Given the description of an element on the screen output the (x, y) to click on. 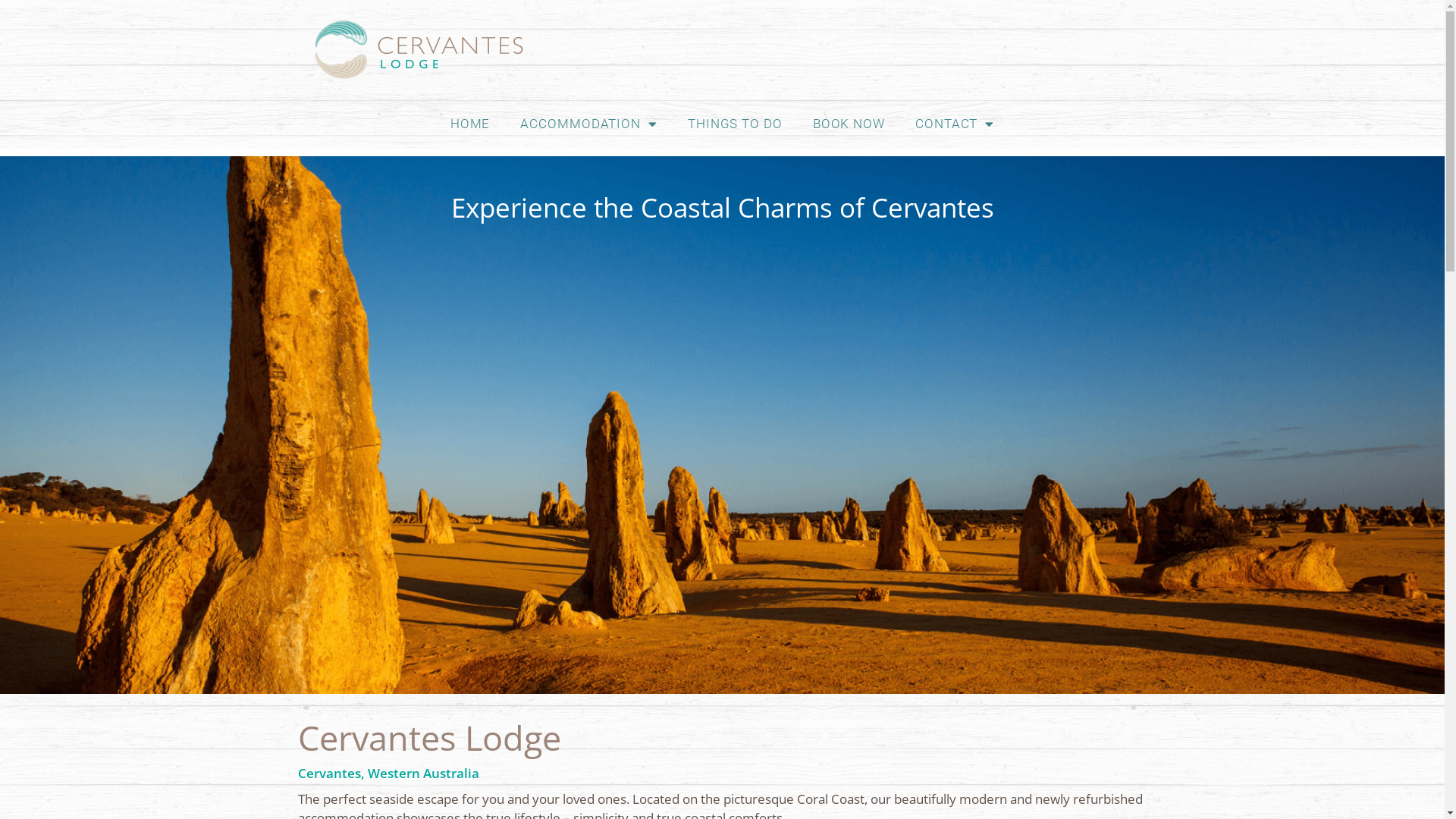
THINGS TO DO Element type: text (734, 123)
CONTACT Element type: text (954, 123)
HOME Element type: text (470, 123)
ACCOMMODATION Element type: text (588, 123)
BOOK NOW Element type: text (848, 123)
